Given the description of an element on the screen output the (x, y) to click on. 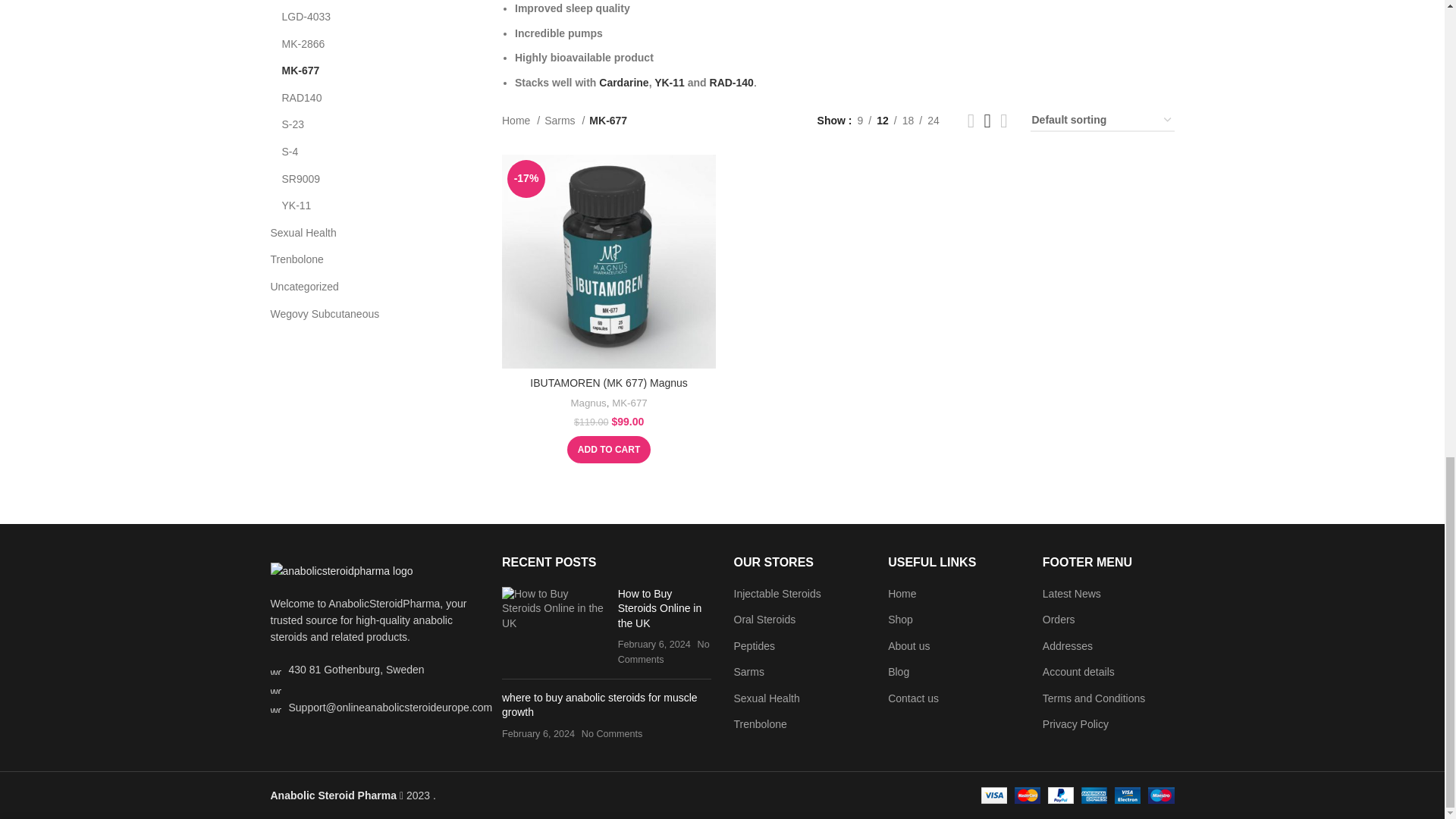
wd-cursor-light (275, 669)
Permalink to How to Buy Steroids Online in the UK (659, 608)
wd-phone-light (275, 688)
wd-envelope-light (275, 706)
anabolicsteroidpharma (340, 570)
How to Buy Steroids Online in the UK (554, 609)
